Given the description of an element on the screen output the (x, y) to click on. 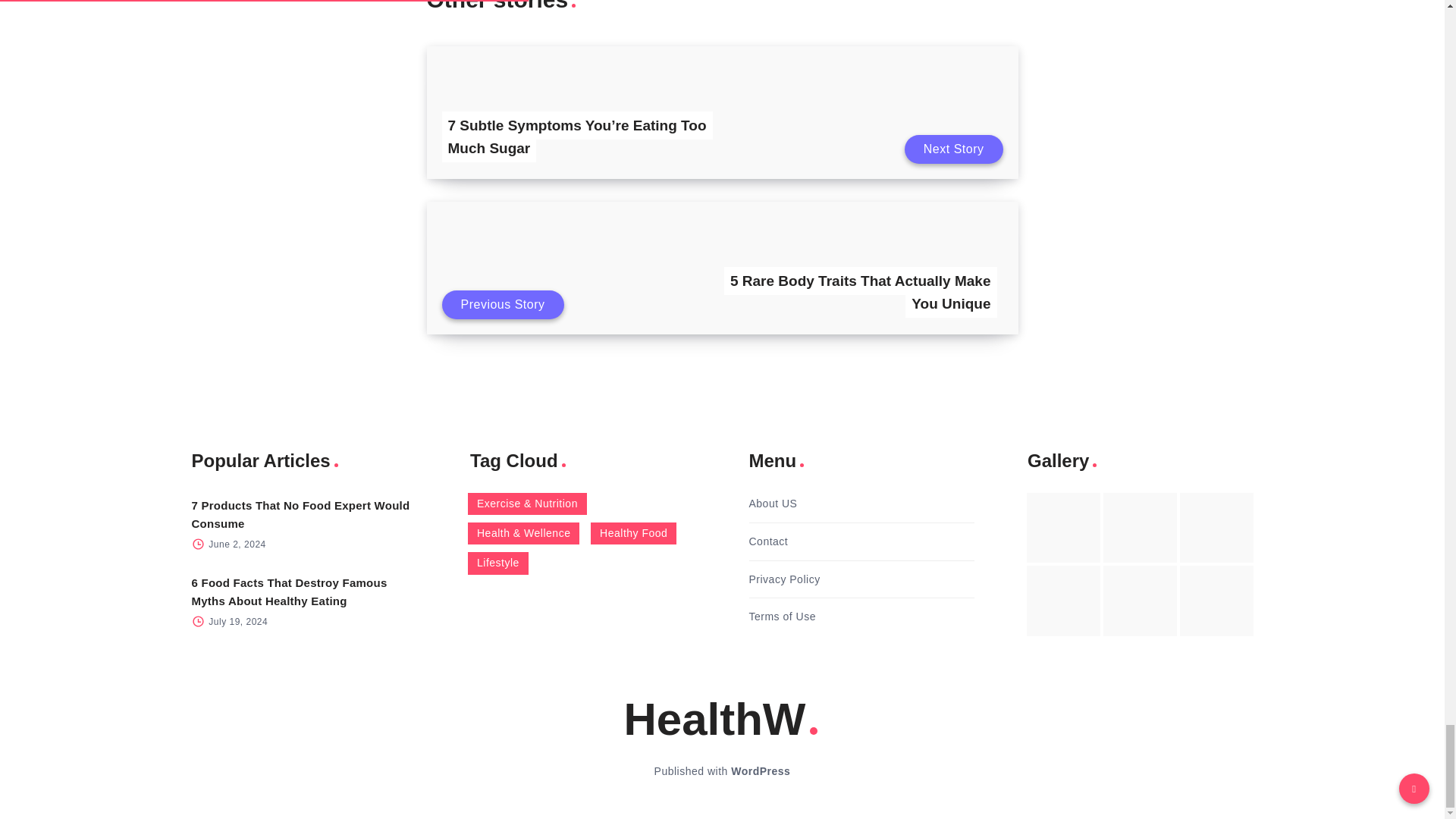
7 Products That No Food Expert Would Consume (299, 513)
6 Food Facts That Destroy Famous Myths About Healthy Eating (288, 591)
